Given the description of an element on the screen output the (x, y) to click on. 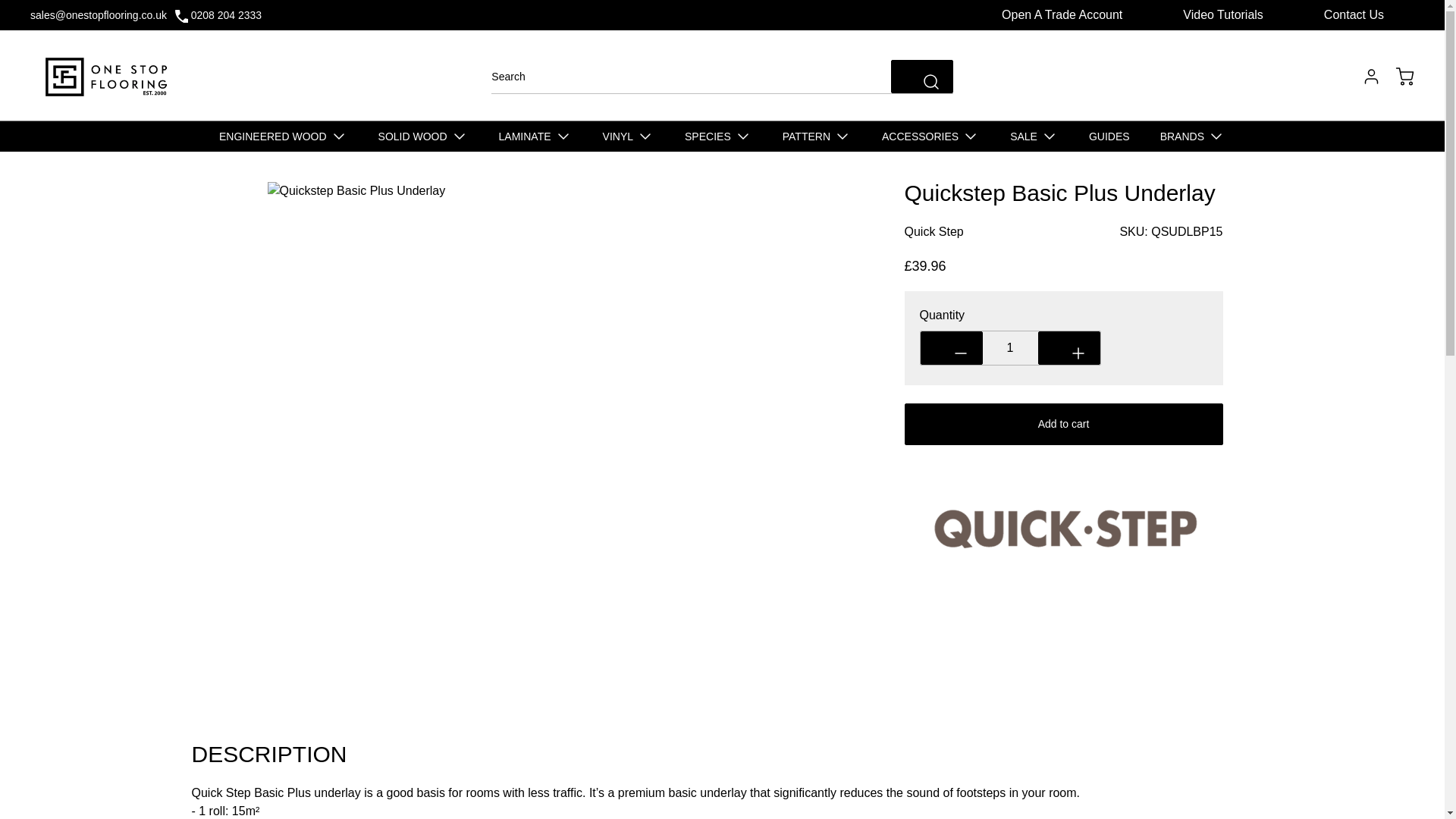
Contact Us (1353, 14)
1 (1010, 347)
Video Tutorials (1223, 14)
0208 204 2333 (226, 15)
Open A Trade Account (1062, 14)
